Given the description of an element on the screen output the (x, y) to click on. 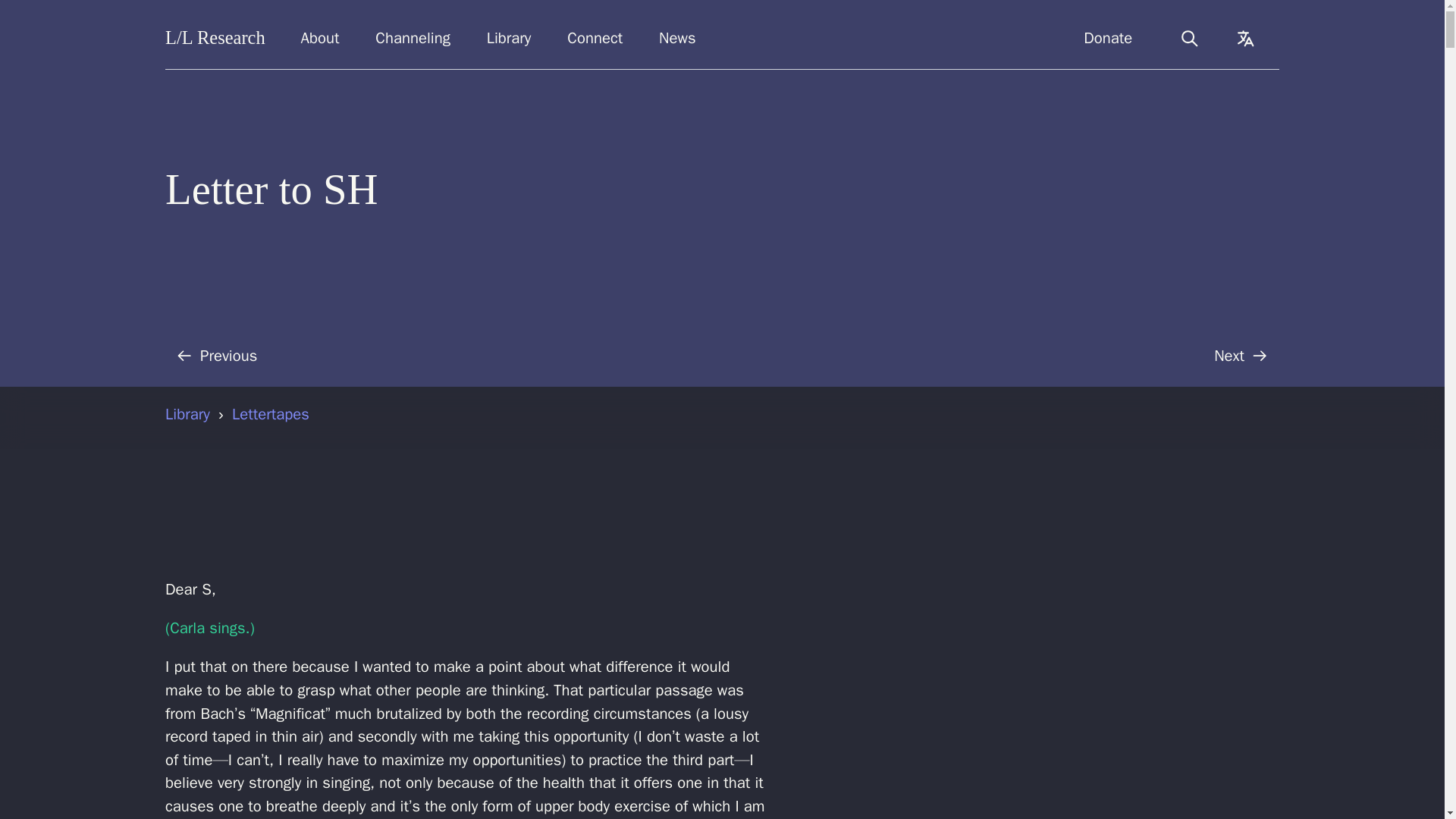
Search (1189, 38)
Donate (1107, 38)
